Given the description of an element on the screen output the (x, y) to click on. 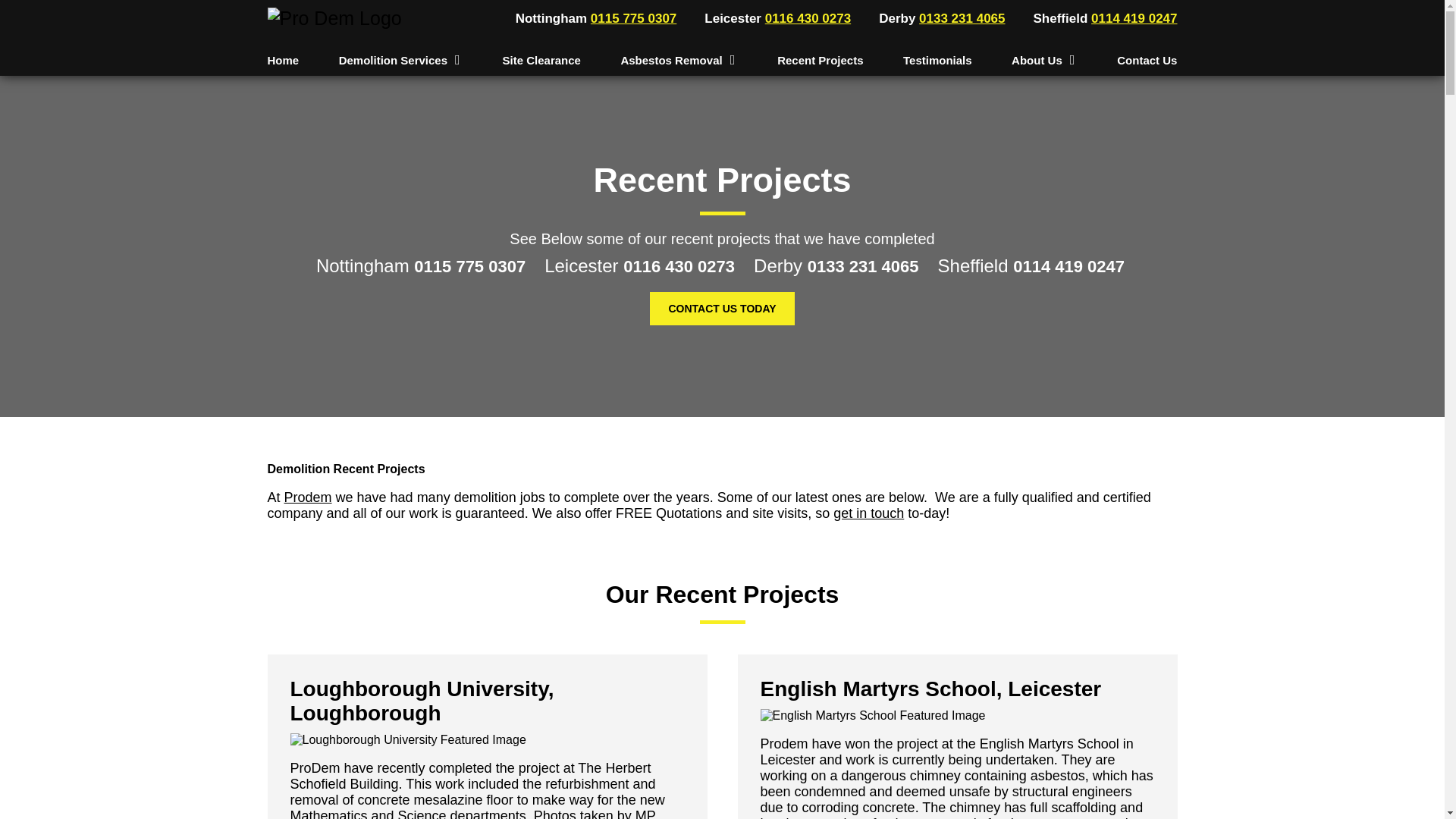
Asbestos Removal (674, 60)
Sheffield 0114 419 0247 (1032, 272)
Contact Us (1146, 60)
Nottingham 0115 775 0307 (422, 272)
Leicester 0116 430 0273 (641, 272)
Derby 0133 231 4065 (938, 18)
Testimonials (937, 60)
CONTACT US TODAY (721, 307)
Sheffield 0114 419 0247 (1102, 18)
Site Clearance (541, 60)
Home (282, 60)
Leicester 0116 430 0273 (774, 18)
About Us (1040, 60)
Demolition Services (396, 60)
Nottingham 0115 775 0307 (594, 18)
